Given the description of an element on the screen output the (x, y) to click on. 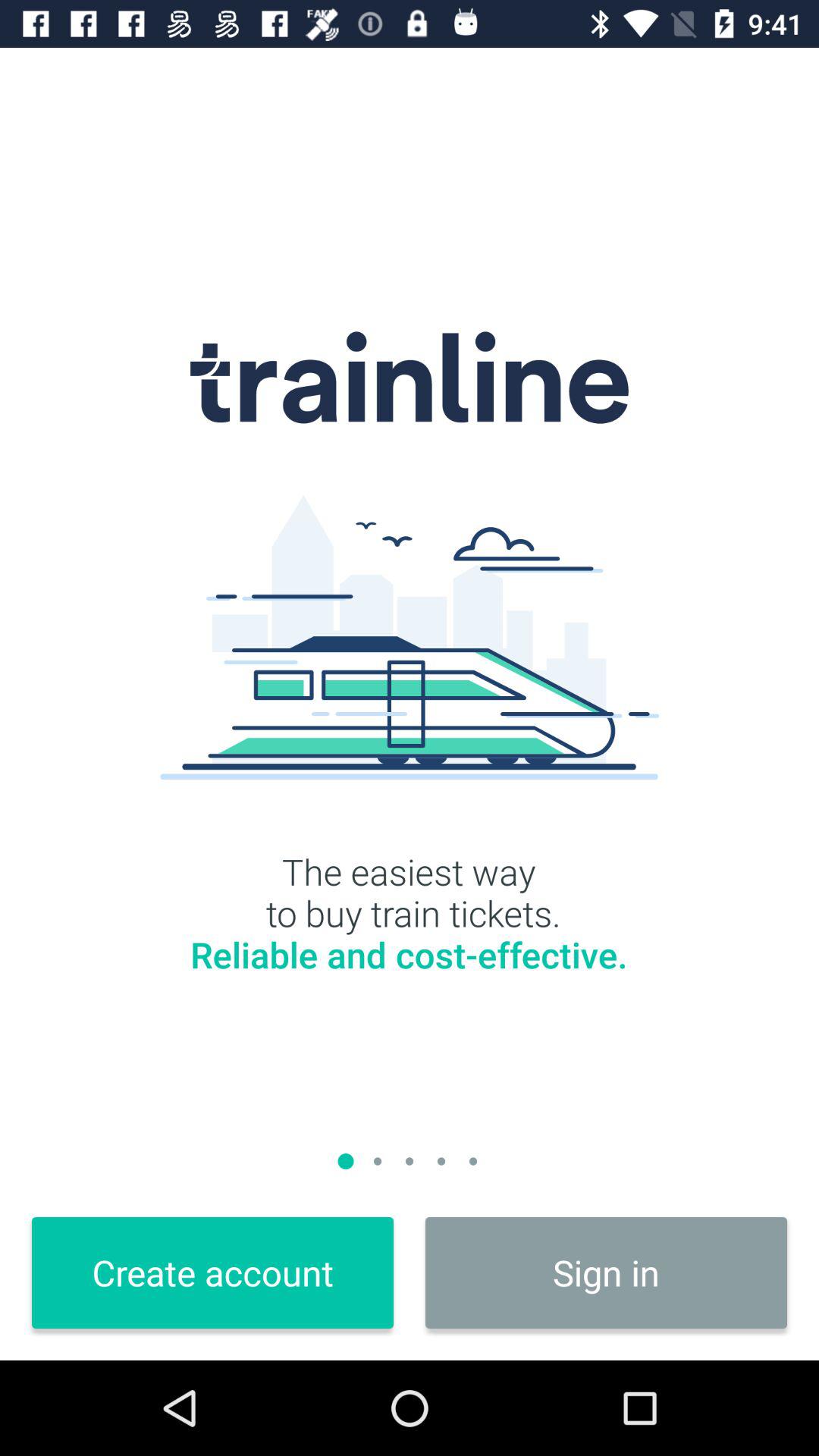
choose the icon to the right of the create account icon (606, 1272)
